Given the description of an element on the screen output the (x, y) to click on. 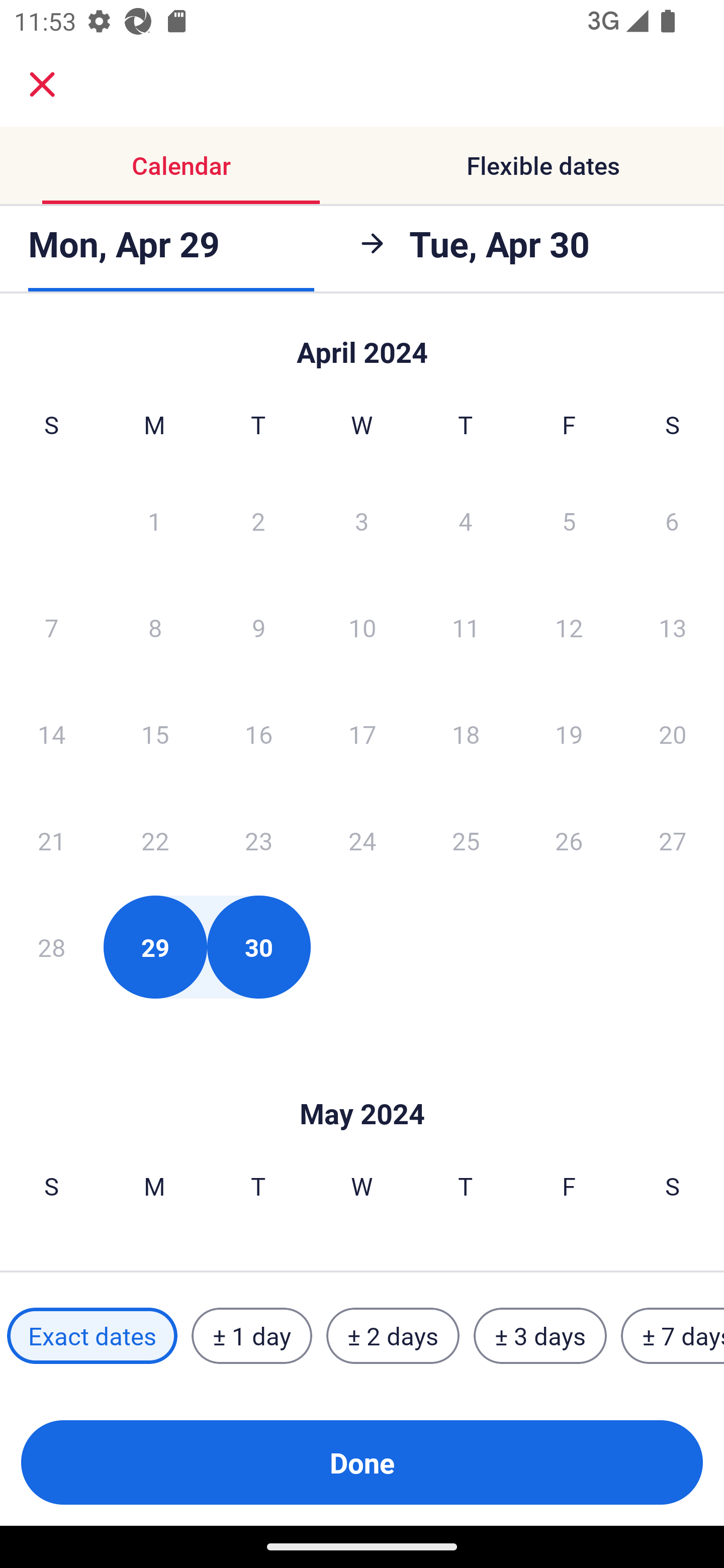
close. (42, 84)
Flexible dates (542, 164)
Skip to Done (362, 343)
1 Monday, April 1, 2024 (154, 520)
2 Tuesday, April 2, 2024 (257, 520)
3 Wednesday, April 3, 2024 (361, 520)
4 Thursday, April 4, 2024 (465, 520)
5 Friday, April 5, 2024 (568, 520)
6 Saturday, April 6, 2024 (672, 520)
7 Sunday, April 7, 2024 (51, 626)
8 Monday, April 8, 2024 (155, 626)
9 Tuesday, April 9, 2024 (258, 626)
10 Wednesday, April 10, 2024 (362, 626)
11 Thursday, April 11, 2024 (465, 626)
12 Friday, April 12, 2024 (569, 626)
13 Saturday, April 13, 2024 (672, 626)
14 Sunday, April 14, 2024 (51, 733)
15 Monday, April 15, 2024 (155, 733)
16 Tuesday, April 16, 2024 (258, 733)
17 Wednesday, April 17, 2024 (362, 733)
18 Thursday, April 18, 2024 (465, 733)
19 Friday, April 19, 2024 (569, 733)
20 Saturday, April 20, 2024 (672, 733)
21 Sunday, April 21, 2024 (51, 840)
22 Monday, April 22, 2024 (155, 840)
23 Tuesday, April 23, 2024 (258, 840)
24 Wednesday, April 24, 2024 (362, 840)
25 Thursday, April 25, 2024 (465, 840)
26 Friday, April 26, 2024 (569, 840)
27 Saturday, April 27, 2024 (672, 840)
28 Sunday, April 28, 2024 (51, 946)
Skip to Done (362, 1083)
Exact dates (92, 1335)
± 1 day (251, 1335)
± 2 days (392, 1335)
± 3 days (539, 1335)
± 7 days (672, 1335)
Done (361, 1462)
